Given the description of an element on the screen output the (x, y) to click on. 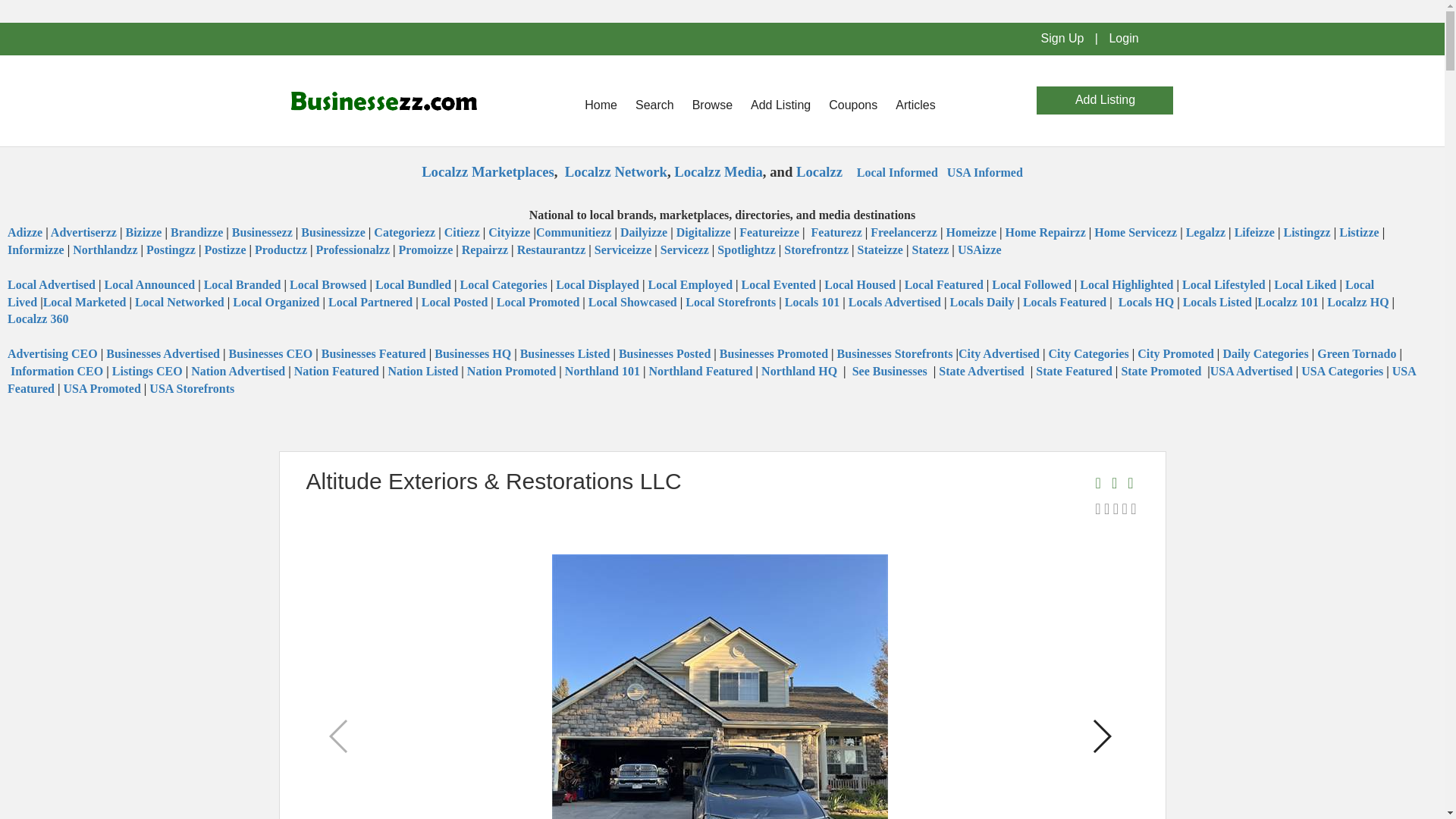
Coupons (852, 104)
Localzz (819, 171)
Adizze (26, 232)
Dailyizze (644, 232)
Home (600, 104)
Businessezz (261, 232)
Localzz Network (615, 171)
Browse (711, 104)
Sign Up (1061, 38)
Bizizze (144, 232)
Add Listing (780, 104)
Home Repairzz (1046, 232)
Featureizze (769, 232)
Featurezz (835, 232)
Digitalizze (703, 232)
